Given the description of an element on the screen output the (x, y) to click on. 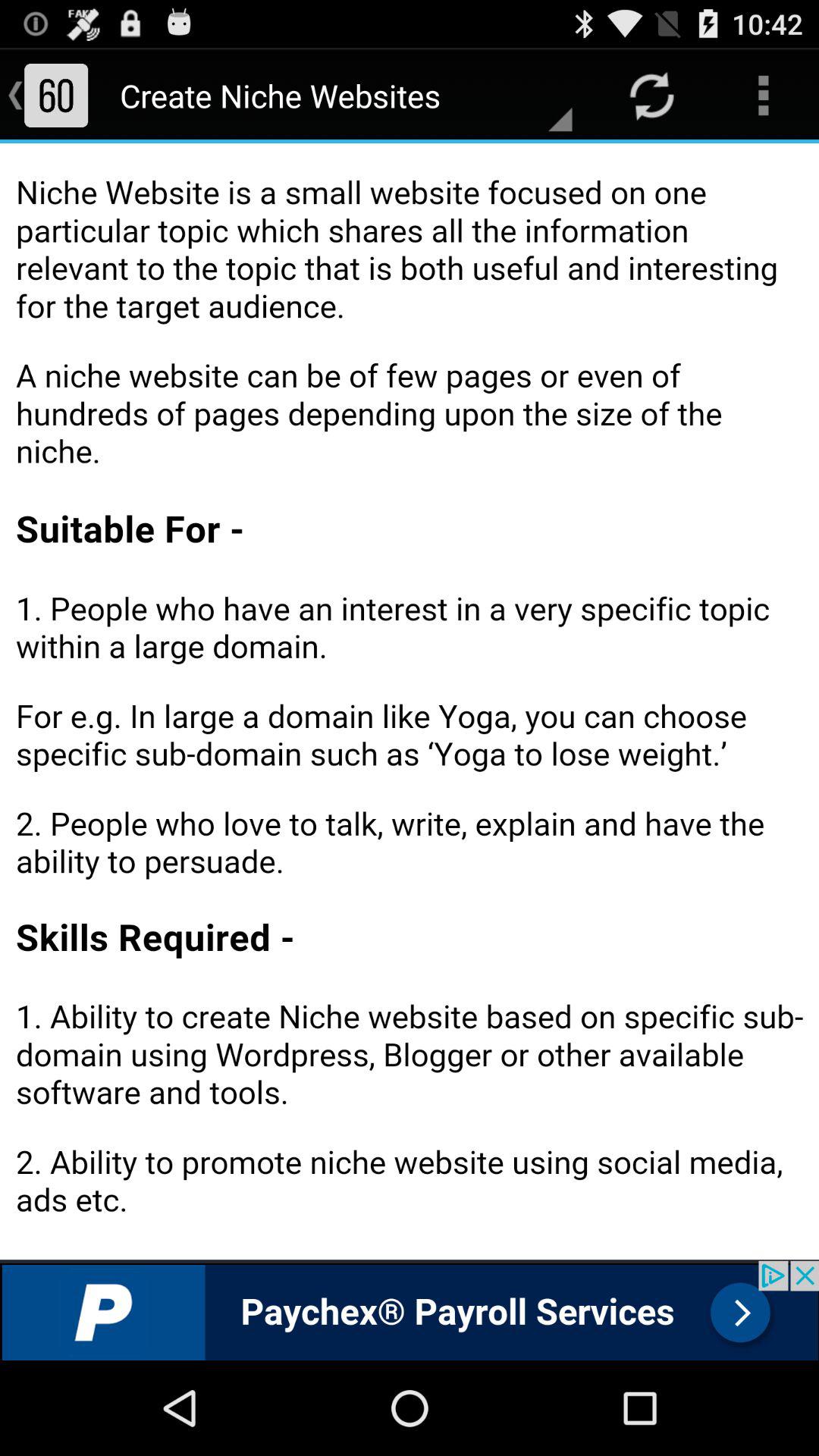
advertisement page (409, 1310)
